Given the description of an element on the screen output the (x, y) to click on. 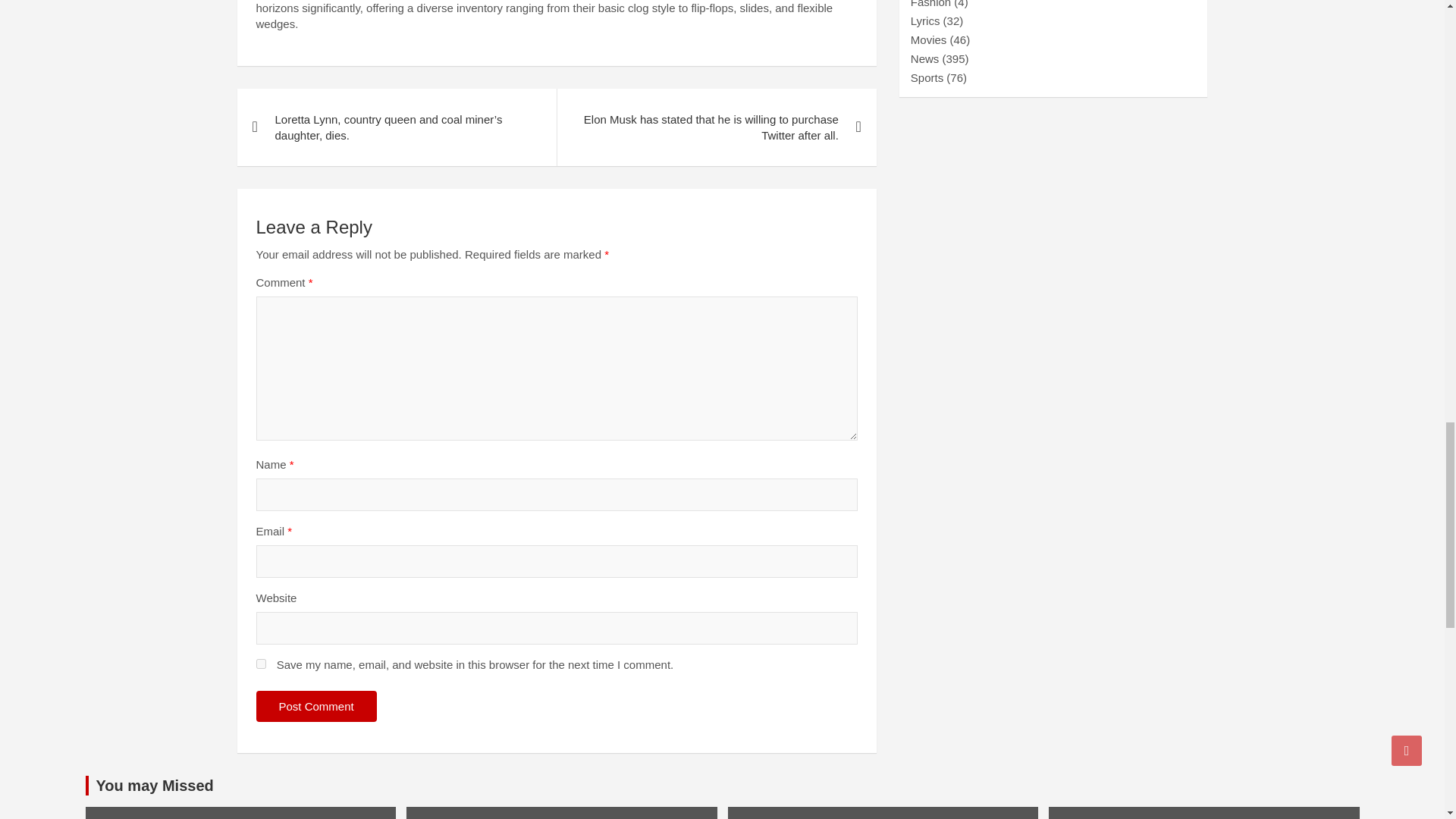
yes (261, 664)
Post Comment (316, 706)
Post Comment (316, 706)
